Given the description of an element on the screen output the (x, y) to click on. 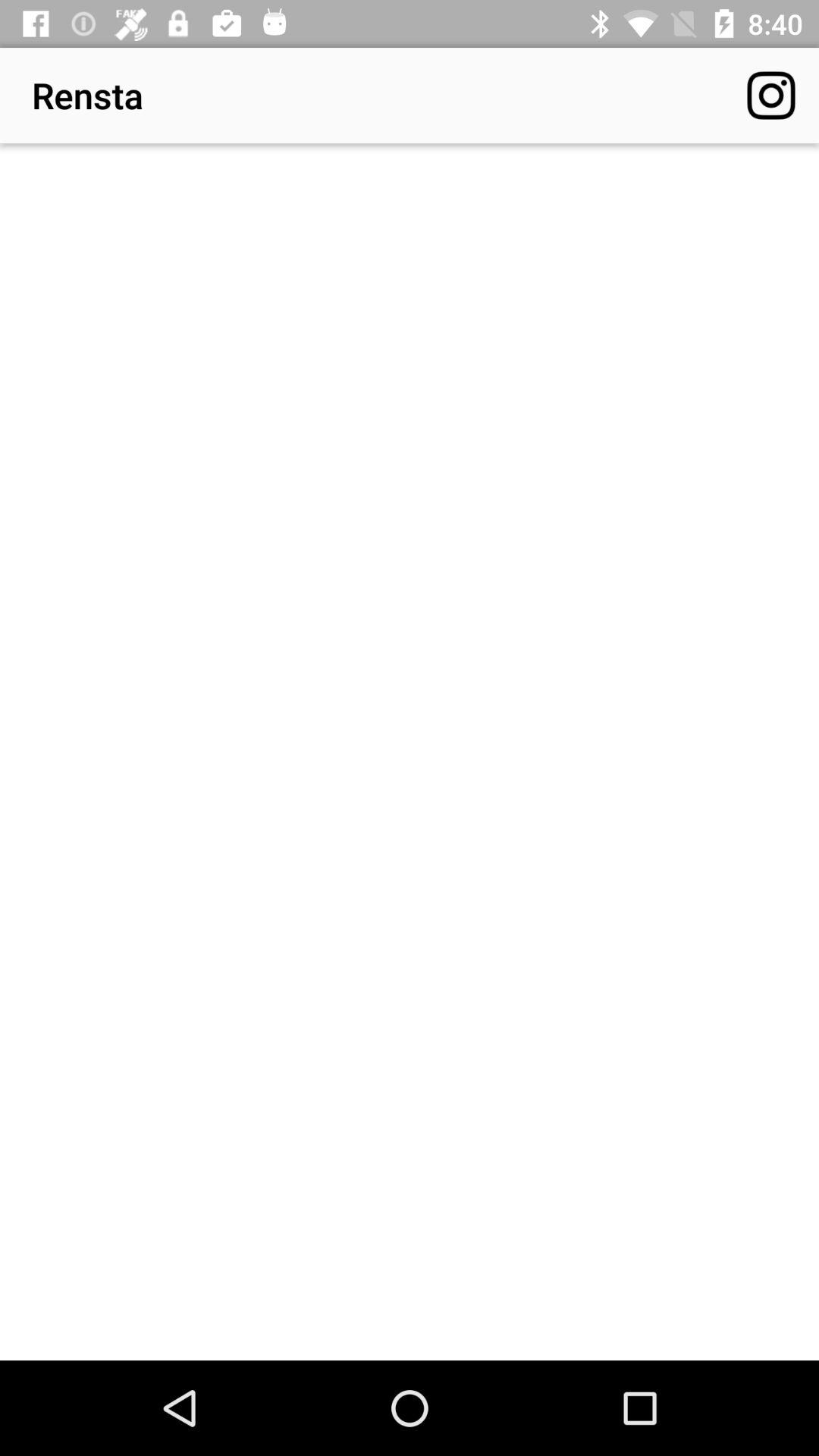
press the item at the top right corner (771, 95)
